Given the description of an element on the screen output the (x, y) to click on. 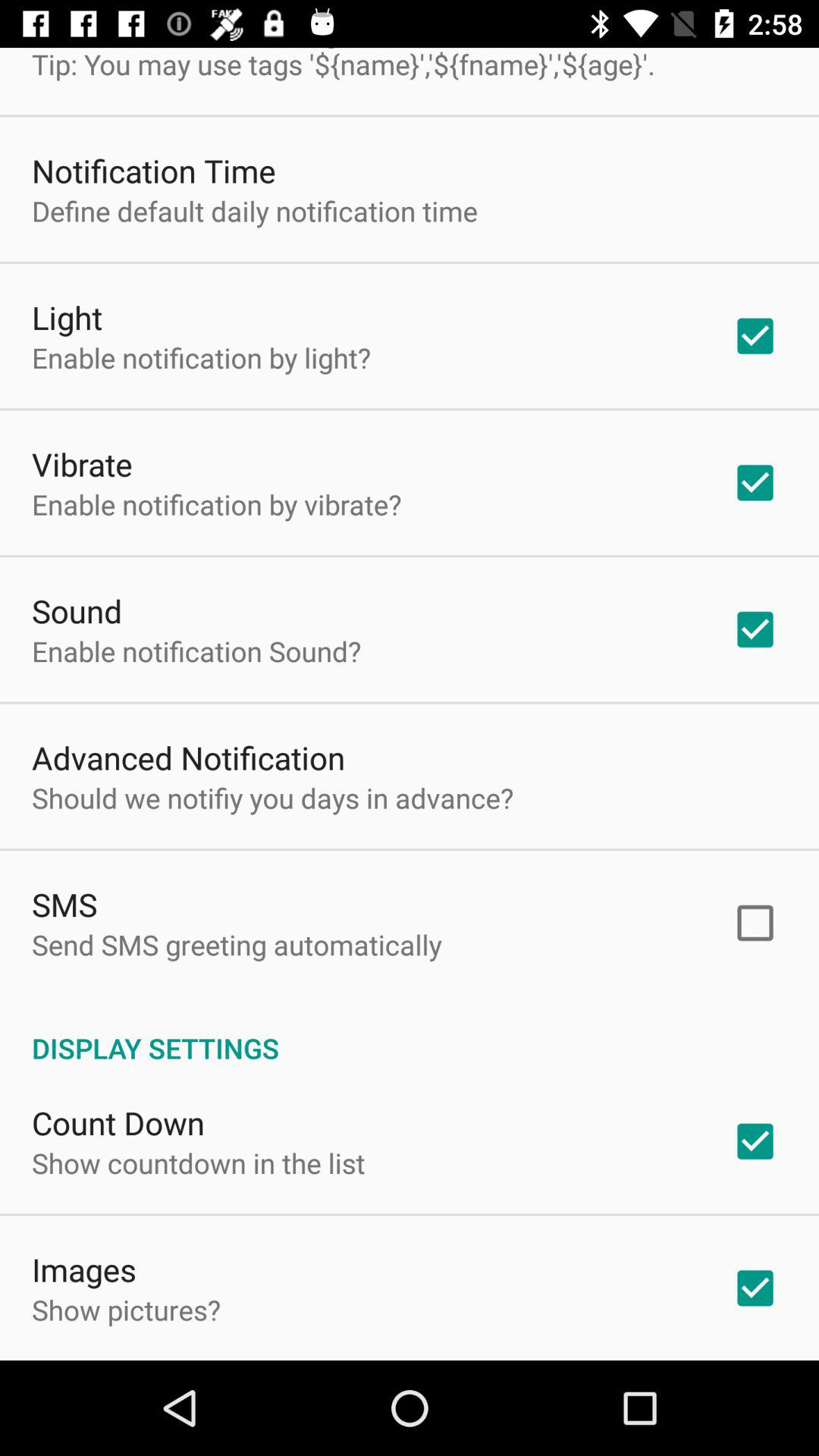
tap the item below the sms icon (236, 944)
